Given the description of an element on the screen output the (x, y) to click on. 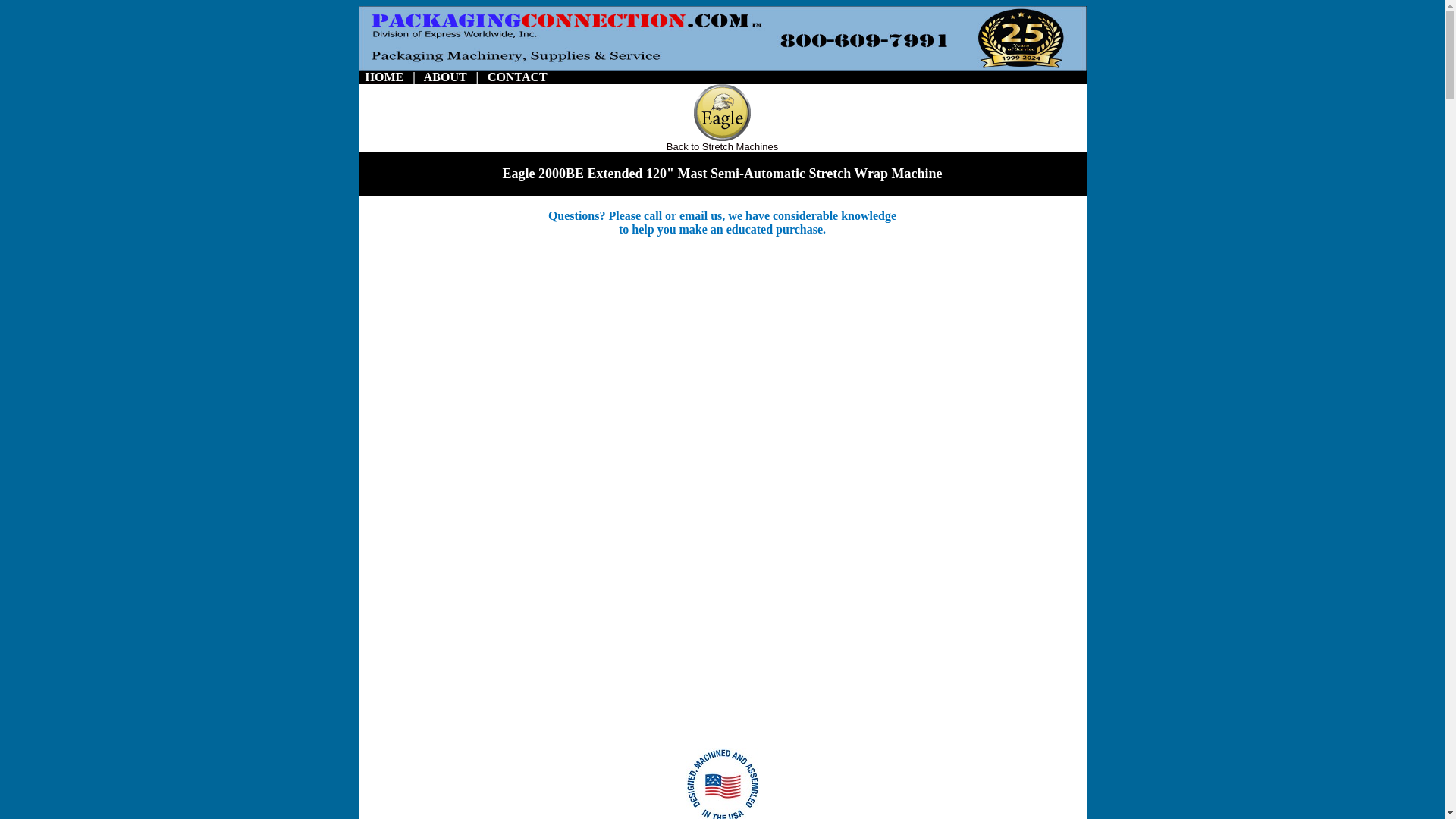
ABOUT (445, 76)
CONTACT (517, 77)
HOME (384, 76)
Back to Stretch Machines (721, 146)
